Given the description of an element on the screen output the (x, y) to click on. 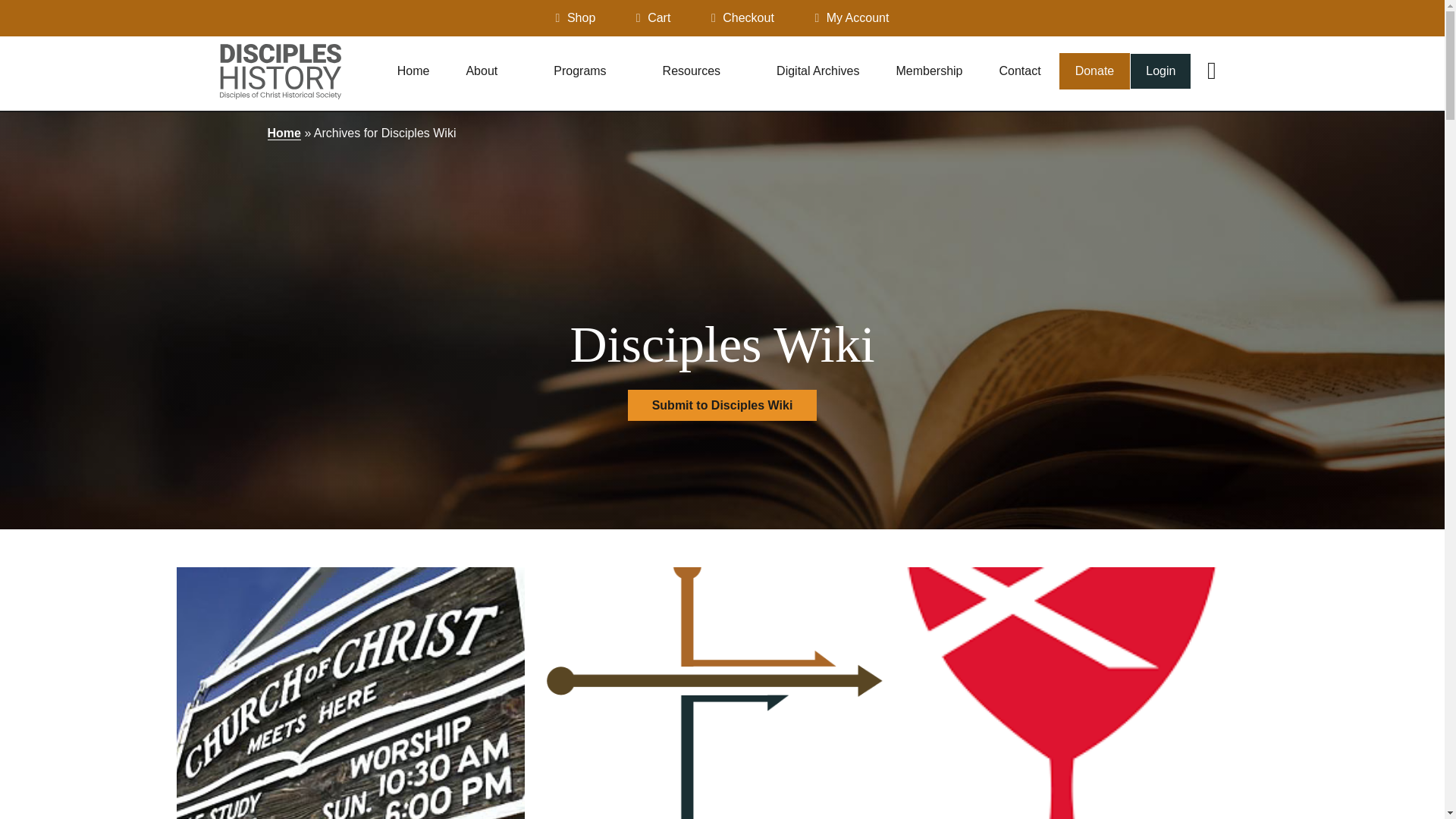
Resources (701, 71)
Programs (589, 71)
Home (413, 71)
Show Search (1211, 71)
My Account (851, 18)
Checkout (742, 17)
Shop (575, 18)
Membership (928, 71)
Cart (653, 17)
